Given the description of an element on the screen output the (x, y) to click on. 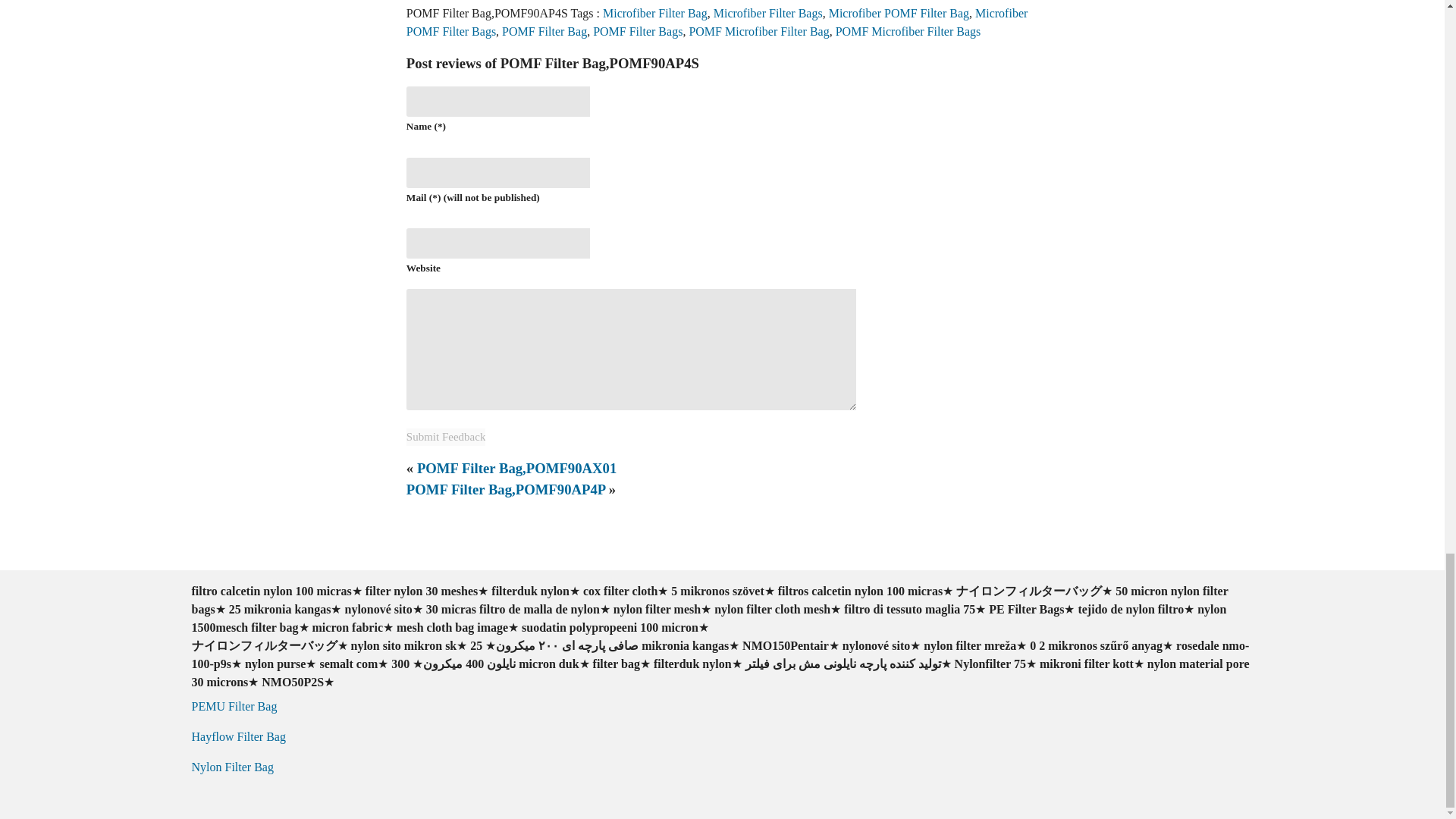
POMF Filter Bag (544, 31)
POMF Filter Bags (637, 31)
Microfiber Filter Bags (767, 12)
Submit Feedback (446, 436)
Submit Feedback (446, 436)
Microfiber POMF Filter Bags (716, 21)
POMF Microfiber Filter Bags (908, 31)
POMF Filter Bag,POMF90AP4P (505, 489)
Microfiber POMF Filter Bag (898, 12)
POMF Filter Bag,POMF90AX01 (515, 467)
